Given the description of an element on the screen output the (x, y) to click on. 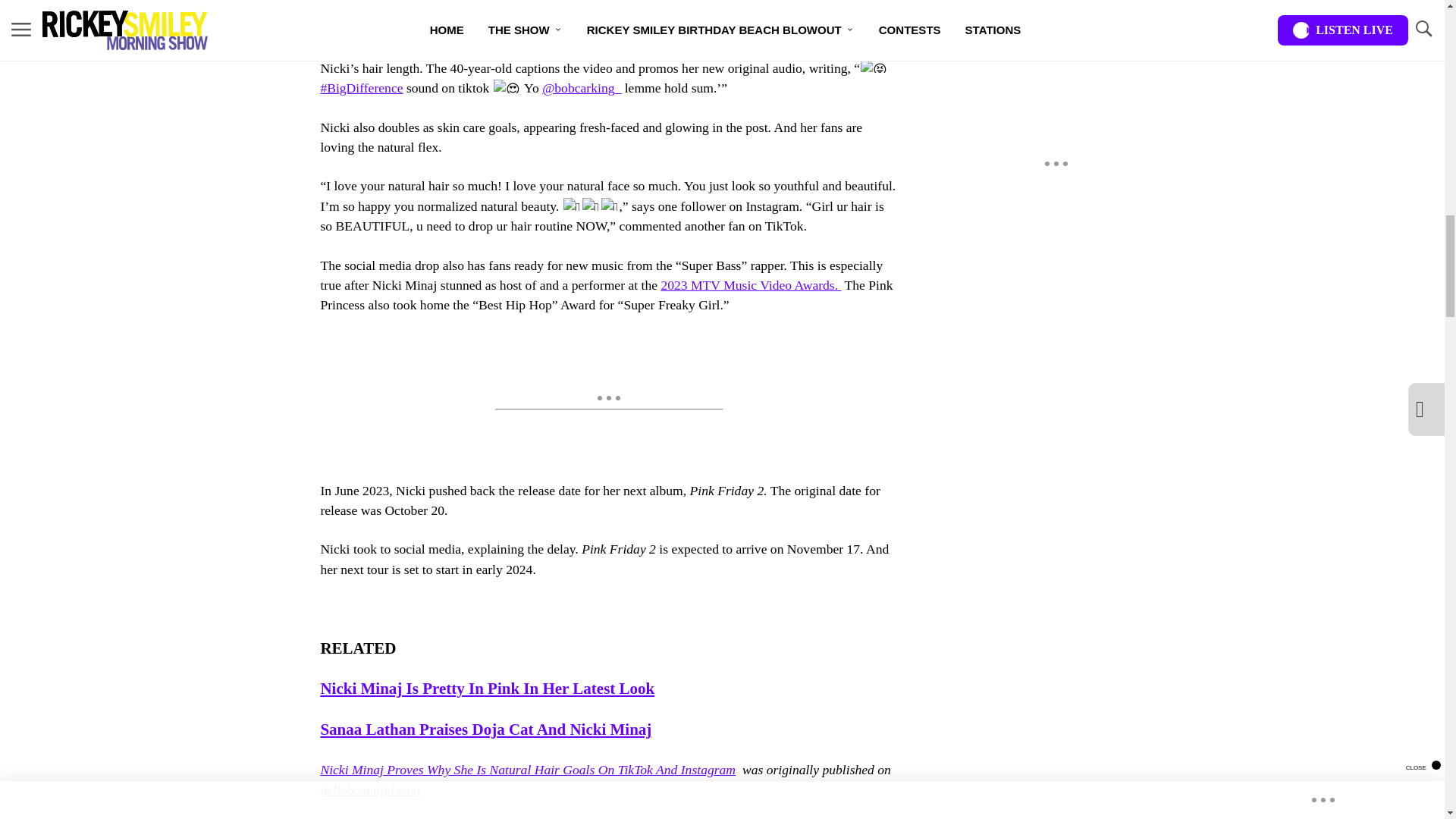
Nicki Minaj Is Pretty In Pink In Her Latest Look (486, 688)
2023 MTV Music Video Awards. (751, 284)
Sanaa Lathan Praises Doja Cat And Nicki Minaj (485, 729)
hellobeautiful.com (369, 789)
